Given the description of an element on the screen output the (x, y) to click on. 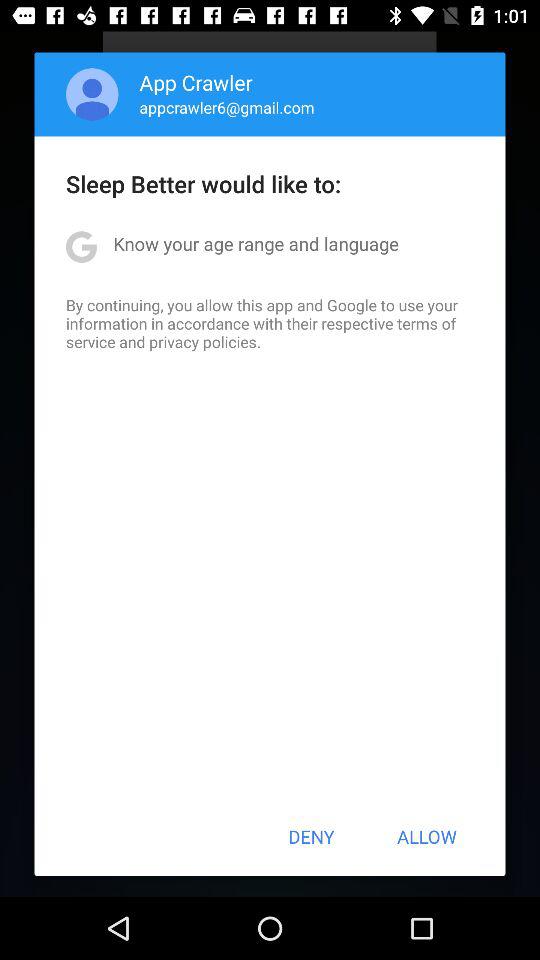
launch app below the app crawler icon (226, 107)
